Given the description of an element on the screen output the (x, y) to click on. 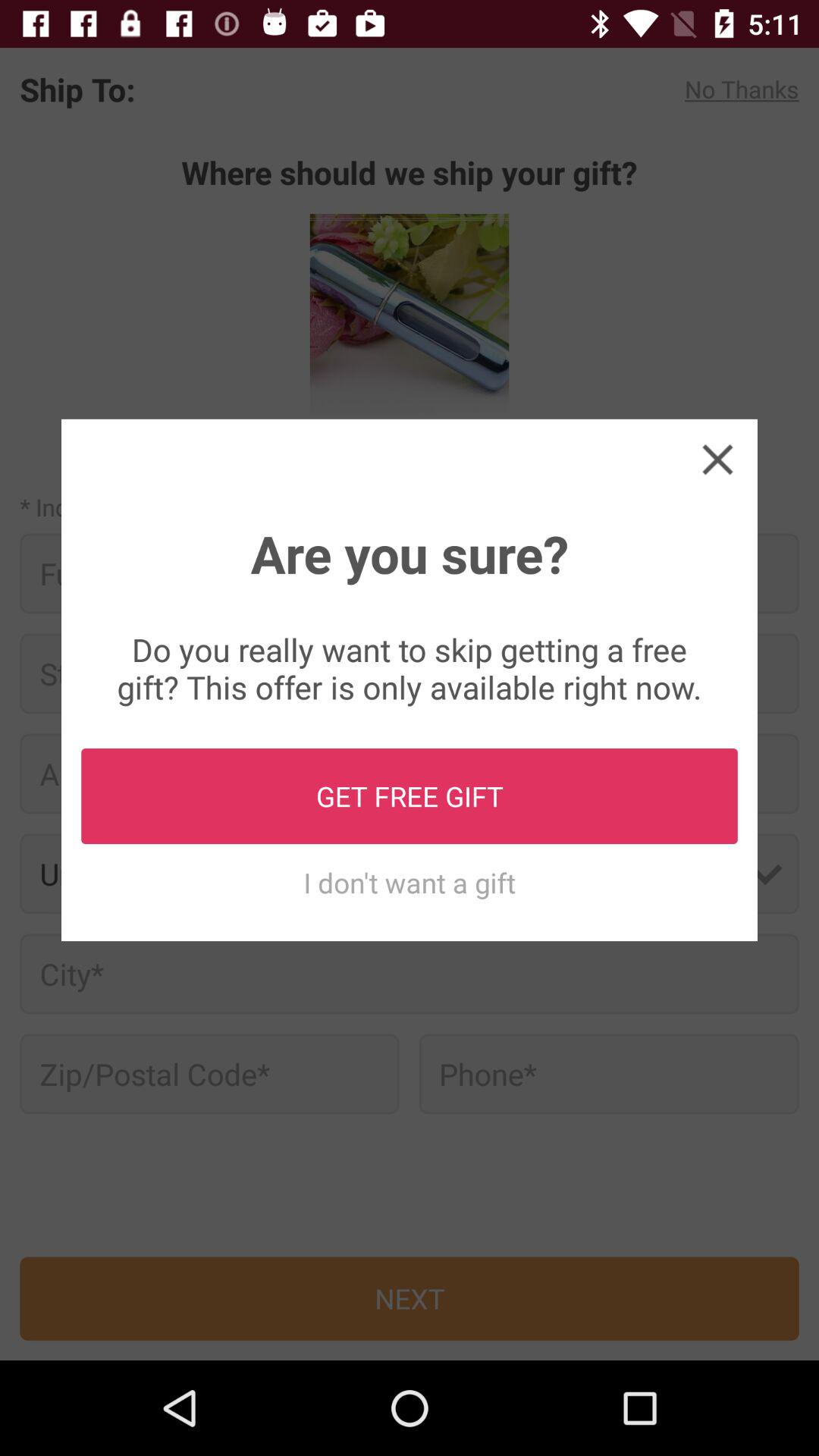
select the i don t (409, 882)
